Given the description of an element on the screen output the (x, y) to click on. 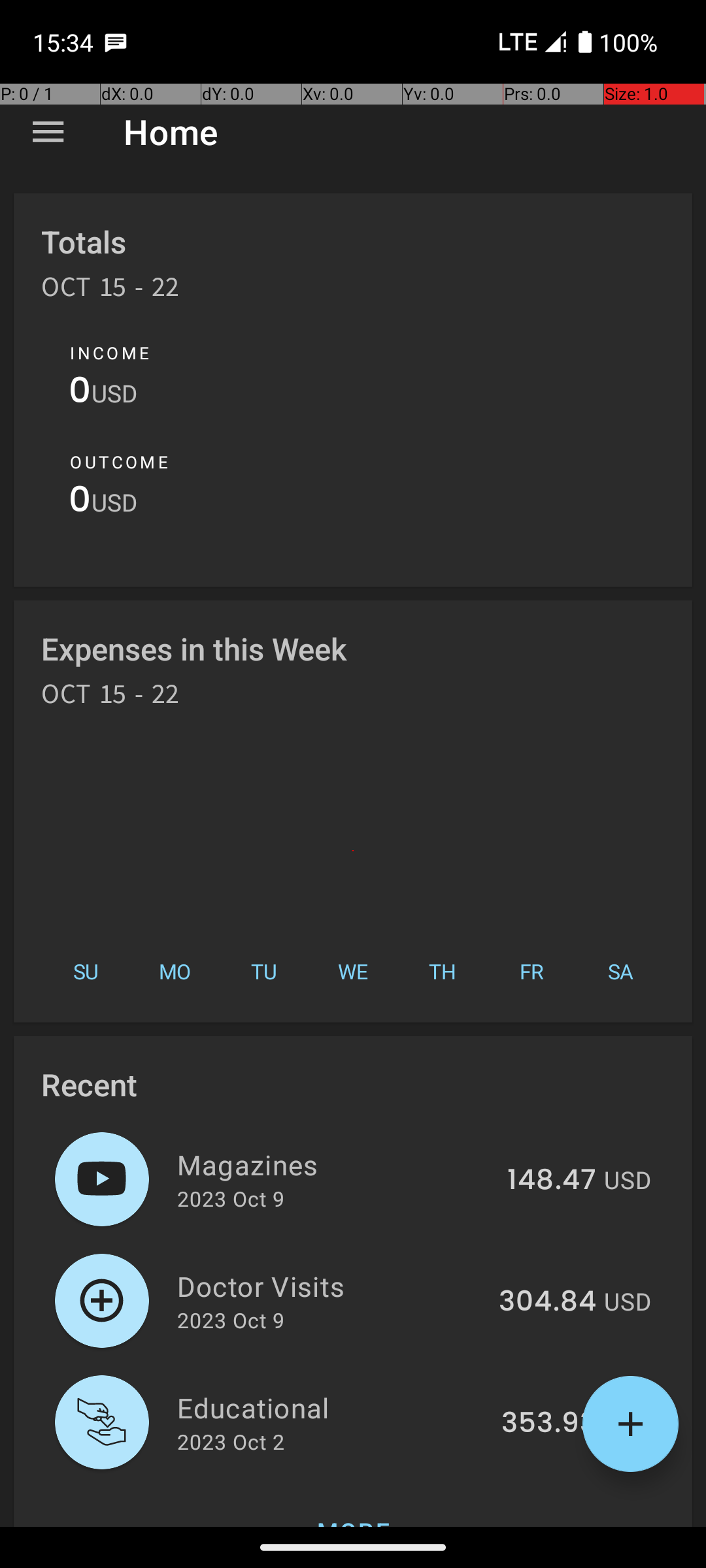
Magazines Element type: android.widget.TextView (334, 1164)
148.47 Element type: android.widget.TextView (551, 1180)
304.84 Element type: android.widget.TextView (547, 1301)
Educational Element type: android.widget.TextView (331, 1407)
2023 Oct 2 Element type: android.widget.TextView (230, 1441)
353.93 Element type: android.widget.TextView (548, 1423)
